Given the description of an element on the screen output the (x, y) to click on. 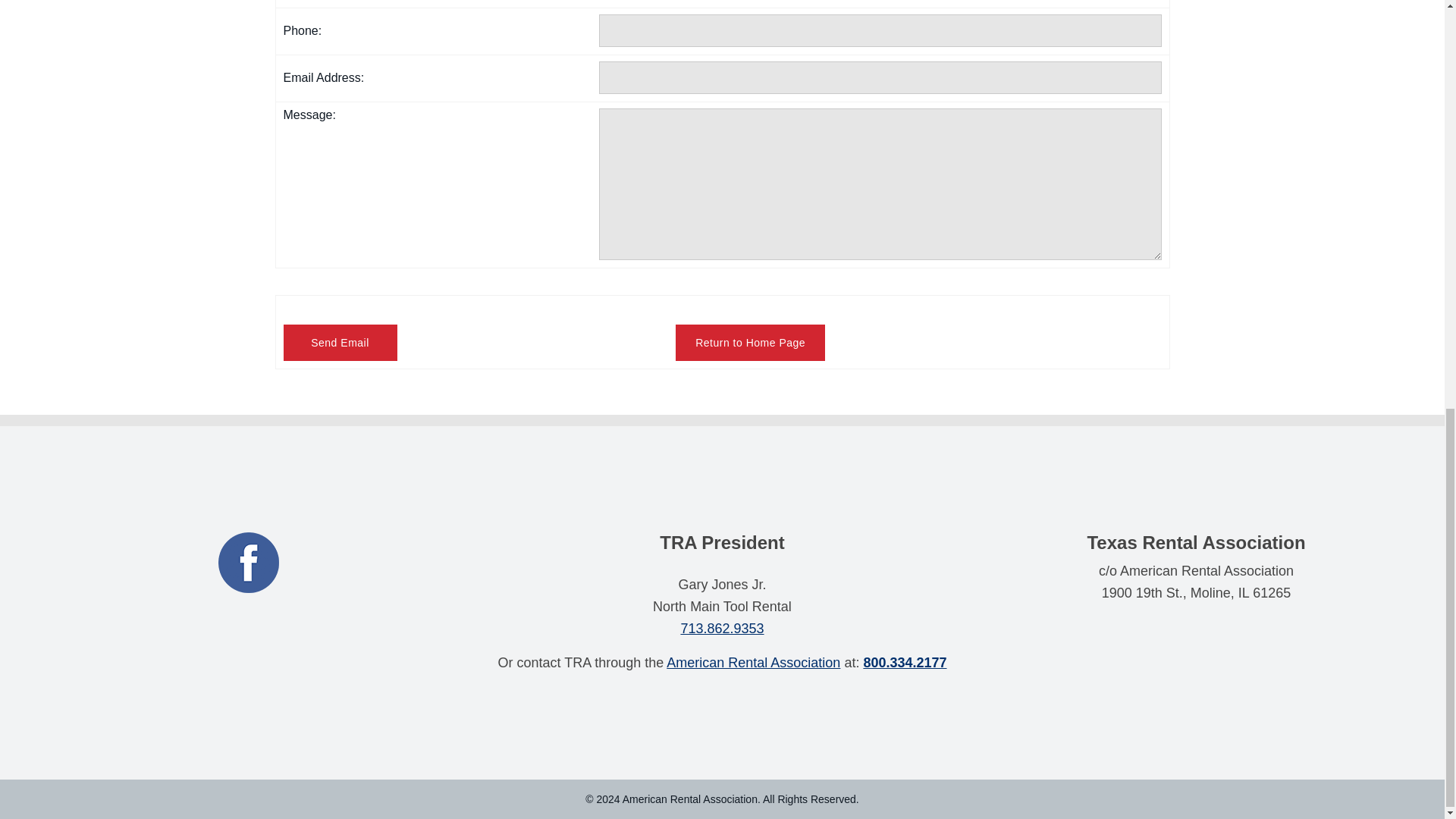
800.334.2177 (904, 662)
American Rental Association (753, 662)
Send Email (340, 342)
Return to Home Page (750, 342)
713.862.9353 (720, 628)
Send Email (340, 342)
Return to Home Page (750, 342)
